Given the description of an element on the screen output the (x, y) to click on. 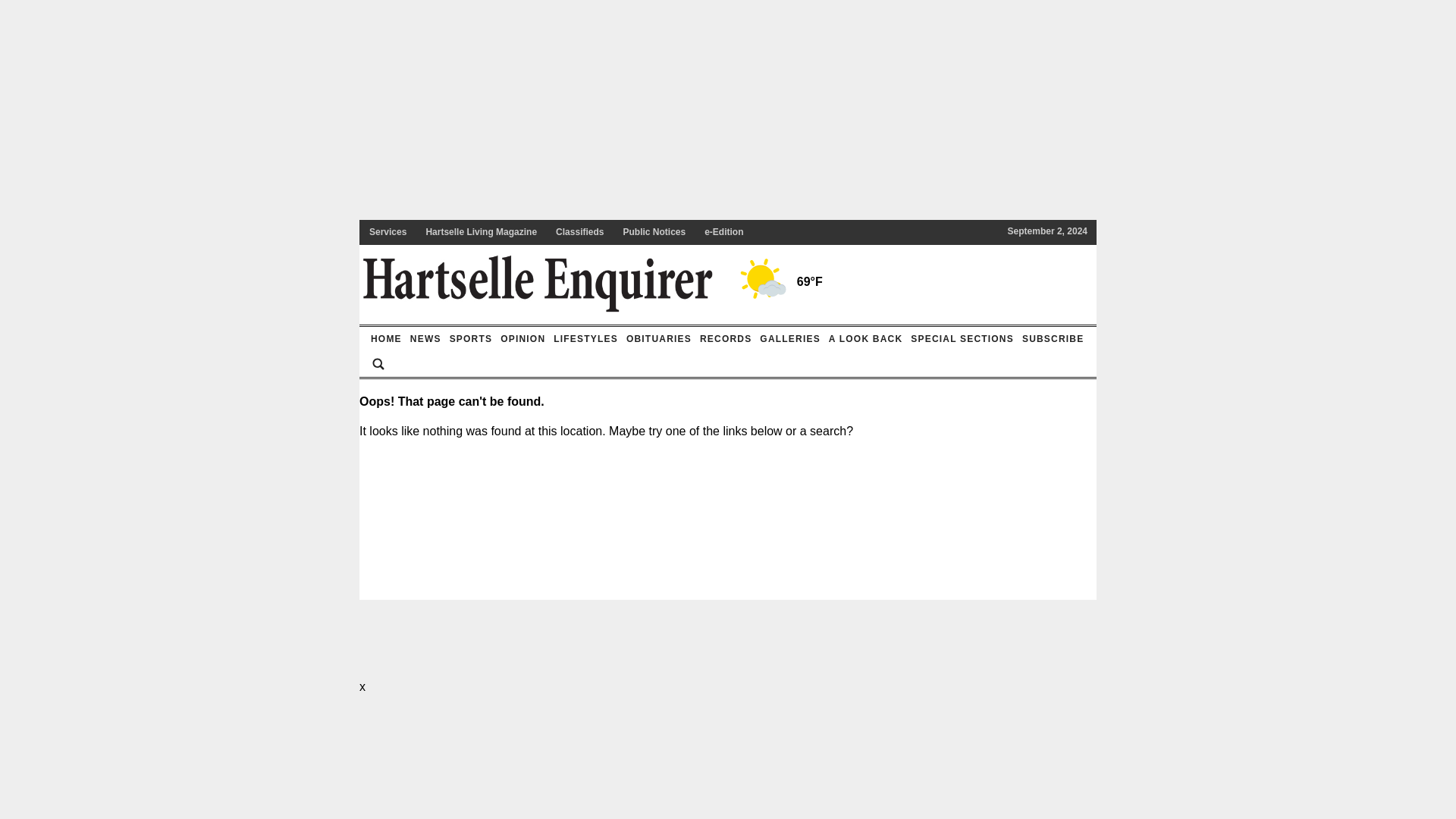
Services (386, 232)
e-Edition (723, 232)
Hartselle Living Magazine (481, 232)
Public Notices (653, 232)
Classifieds (579, 232)
